Given the description of an element on the screen output the (x, y) to click on. 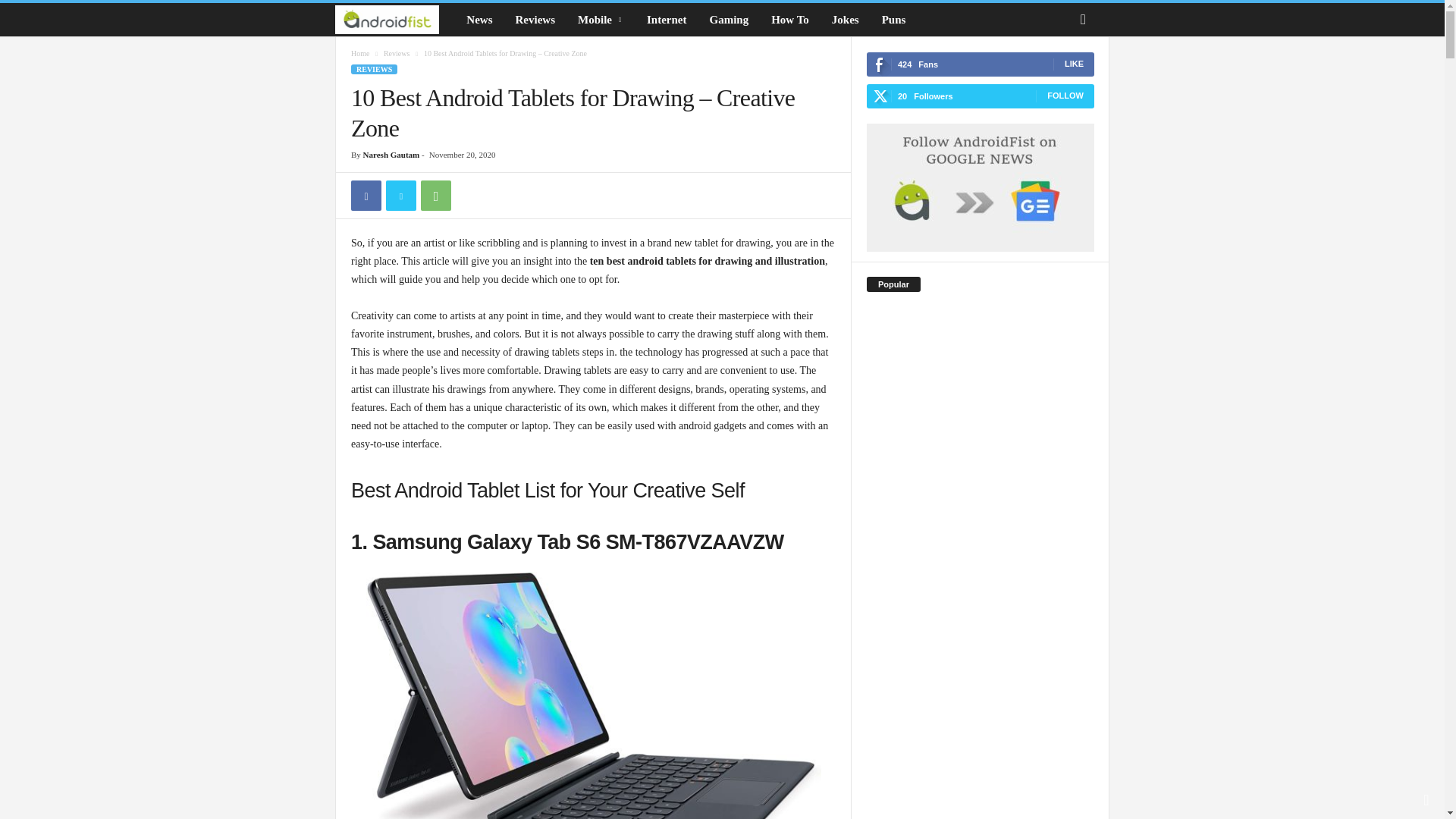
News (478, 19)
Reviews (535, 19)
WhatsApp (435, 195)
View all posts in Reviews (396, 53)
Twitter (400, 195)
Mobile (600, 19)
Facebook (365, 195)
AndroidFist (394, 19)
